Given the description of an element on the screen output the (x, y) to click on. 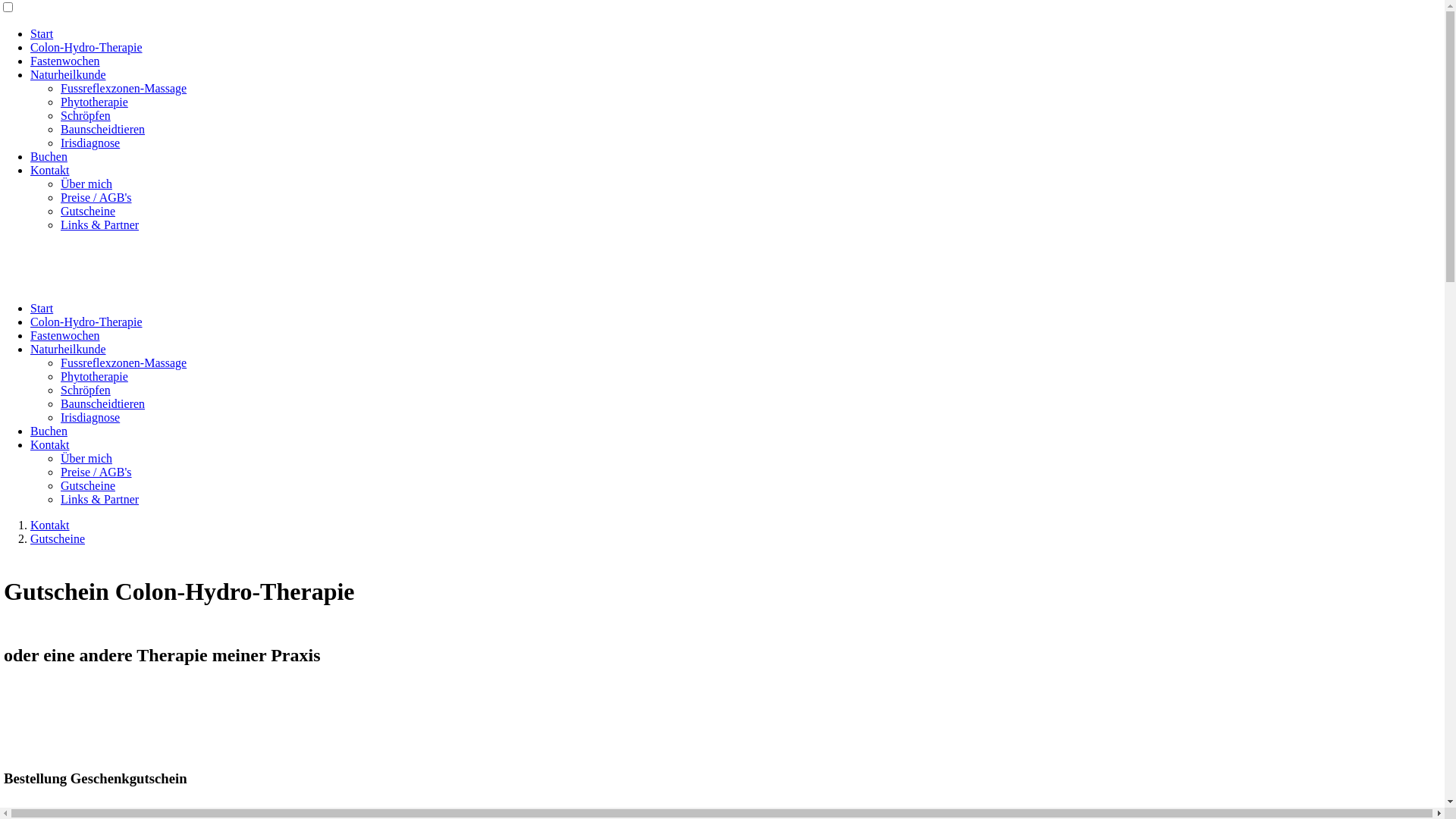
Fussreflexzonen-Massage Element type: text (123, 87)
Fastenwochen Element type: text (65, 335)
Phytotherapie Element type: text (94, 101)
Irisdiagnose Element type: text (89, 417)
Preise / AGB's Element type: text (95, 197)
Phytotherapie Element type: text (94, 376)
Fussreflexzonen-Massage Element type: text (123, 362)
Buchen Element type: text (48, 430)
Naturheilkunde Element type: text (68, 74)
Baunscheidtieren Element type: text (102, 128)
Baunscheidtieren Element type: text (102, 403)
Links & Partner Element type: text (99, 224)
Start Element type: text (41, 307)
Kontakt Element type: text (49, 524)
Irisdiagnose Element type: text (89, 142)
Gutscheine Element type: text (87, 210)
Colon-Hydro-Therapie Element type: text (86, 46)
Colon-Hydro-Therapie Element type: text (86, 321)
Gutscheine Element type: text (57, 538)
Links & Partner Element type: text (99, 498)
Buchen Element type: text (48, 156)
Naturheilkunde Element type: text (68, 348)
Kontakt Element type: text (49, 169)
Fastenwochen Element type: text (65, 60)
Gutscheine Element type: text (87, 485)
Kontakt Element type: text (49, 444)
Preise / AGB's Element type: text (95, 471)
Start Element type: text (41, 33)
